Given the description of an element on the screen output the (x, y) to click on. 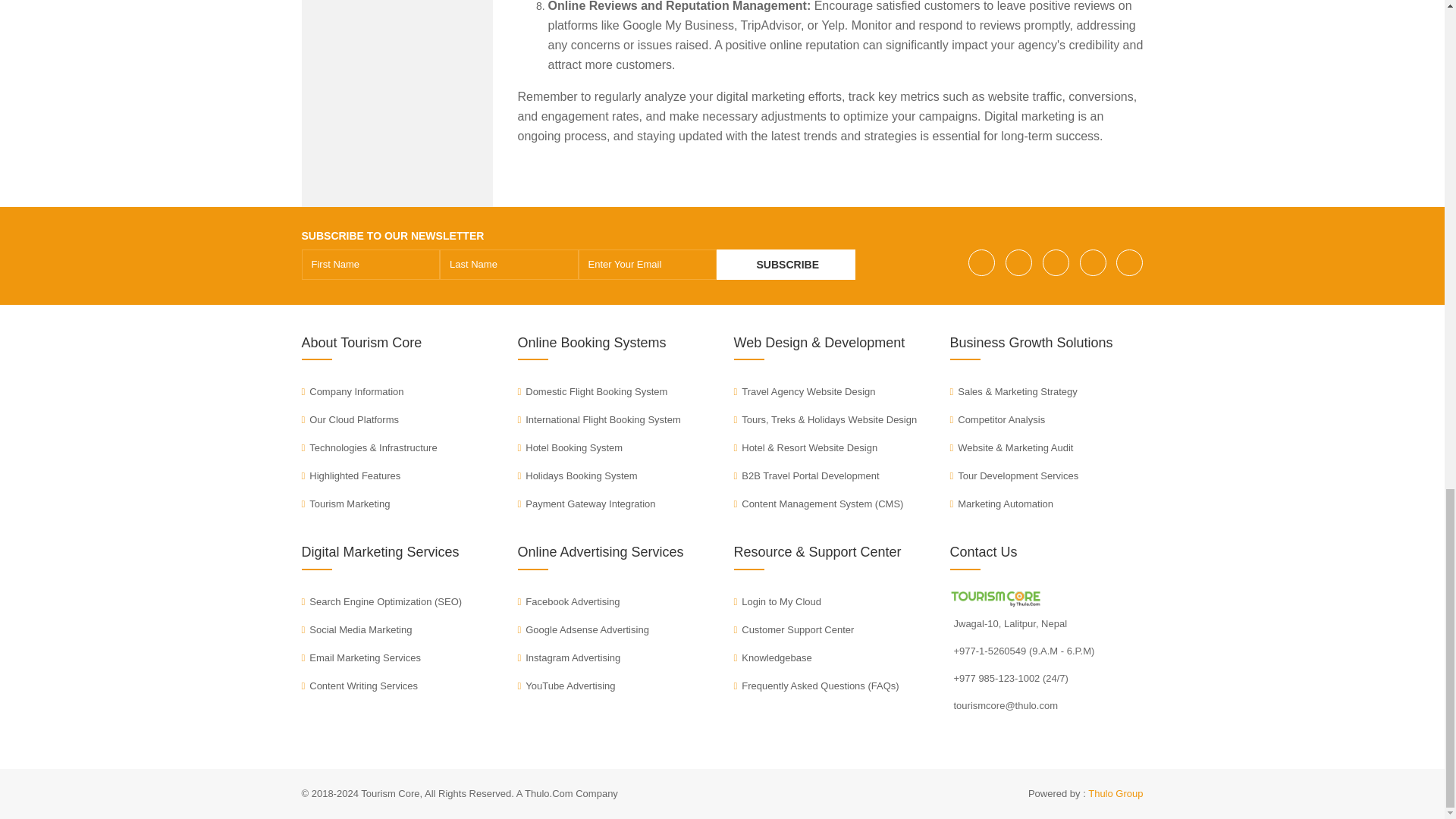
International Flight Booking System (597, 419)
Marketing Automation (1000, 503)
Highlighted Features (351, 475)
SUBSCRIBE (786, 264)
Our Cloud Platforms (349, 419)
Competitor Analysis (997, 419)
Company Information (352, 391)
Hotel Booking System (569, 447)
Holidays Booking System (576, 475)
B2B Travel Portal Development (806, 475)
Tourism Marketing (345, 503)
Travel Agency Website Design (804, 391)
Tour Development Services (1013, 475)
Domestic Flight Booking System (591, 391)
Payment Gateway Integration (585, 503)
